Given the description of an element on the screen output the (x, y) to click on. 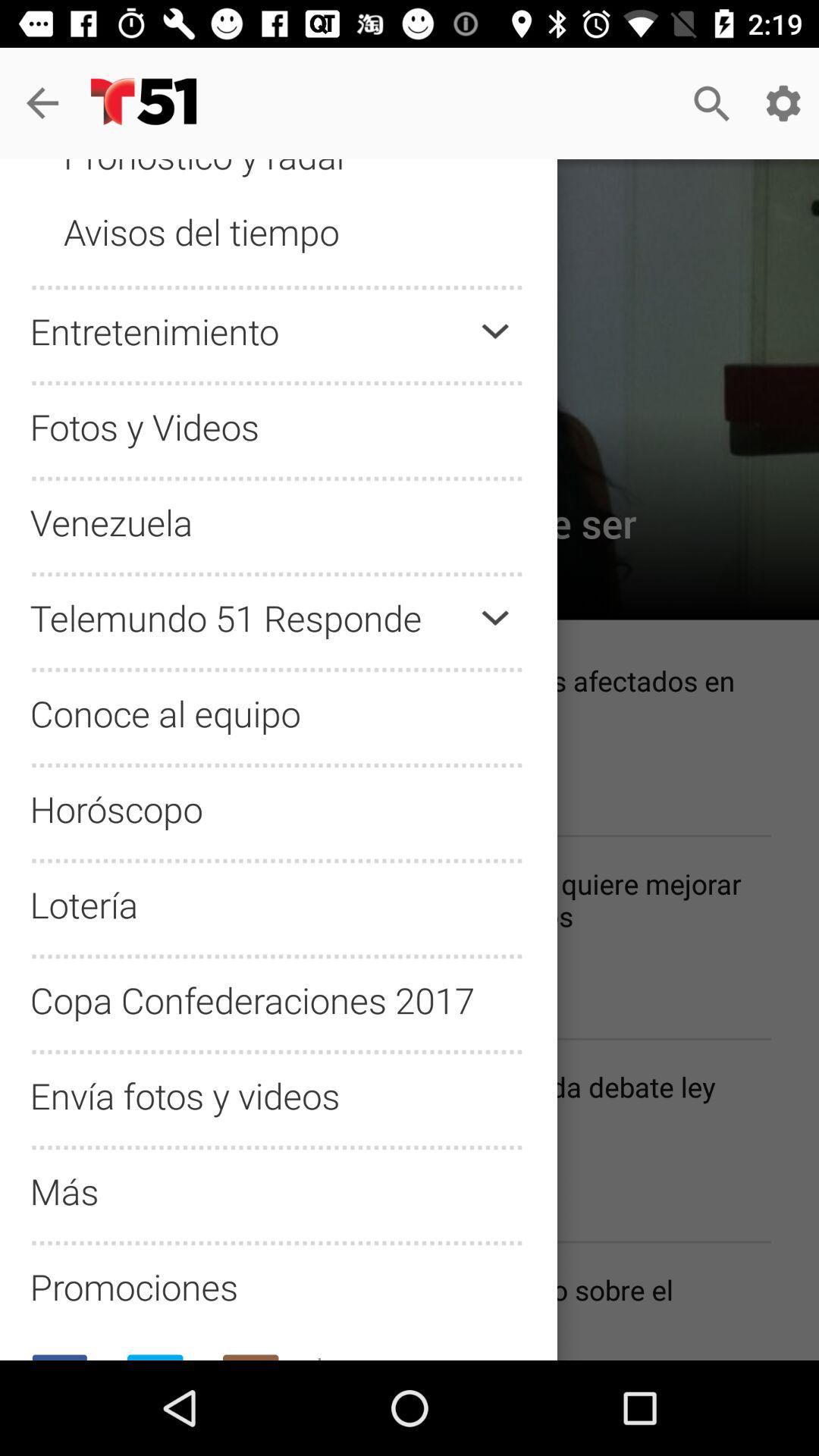
click the above  dropdown button (495, 331)
